Given the description of an element on the screen output the (x, y) to click on. 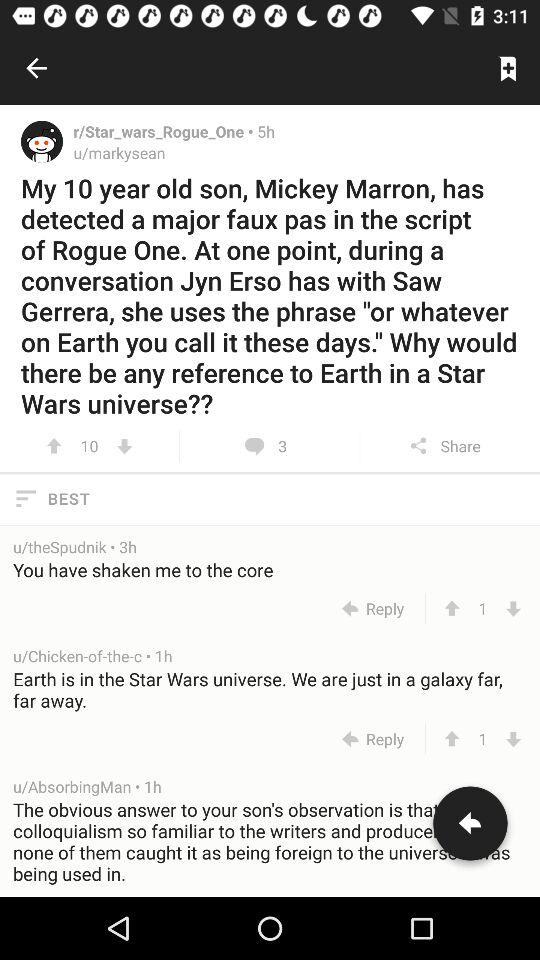
turn off the icon above 1 (271, 689)
